Given the description of an element on the screen output the (x, y) to click on. 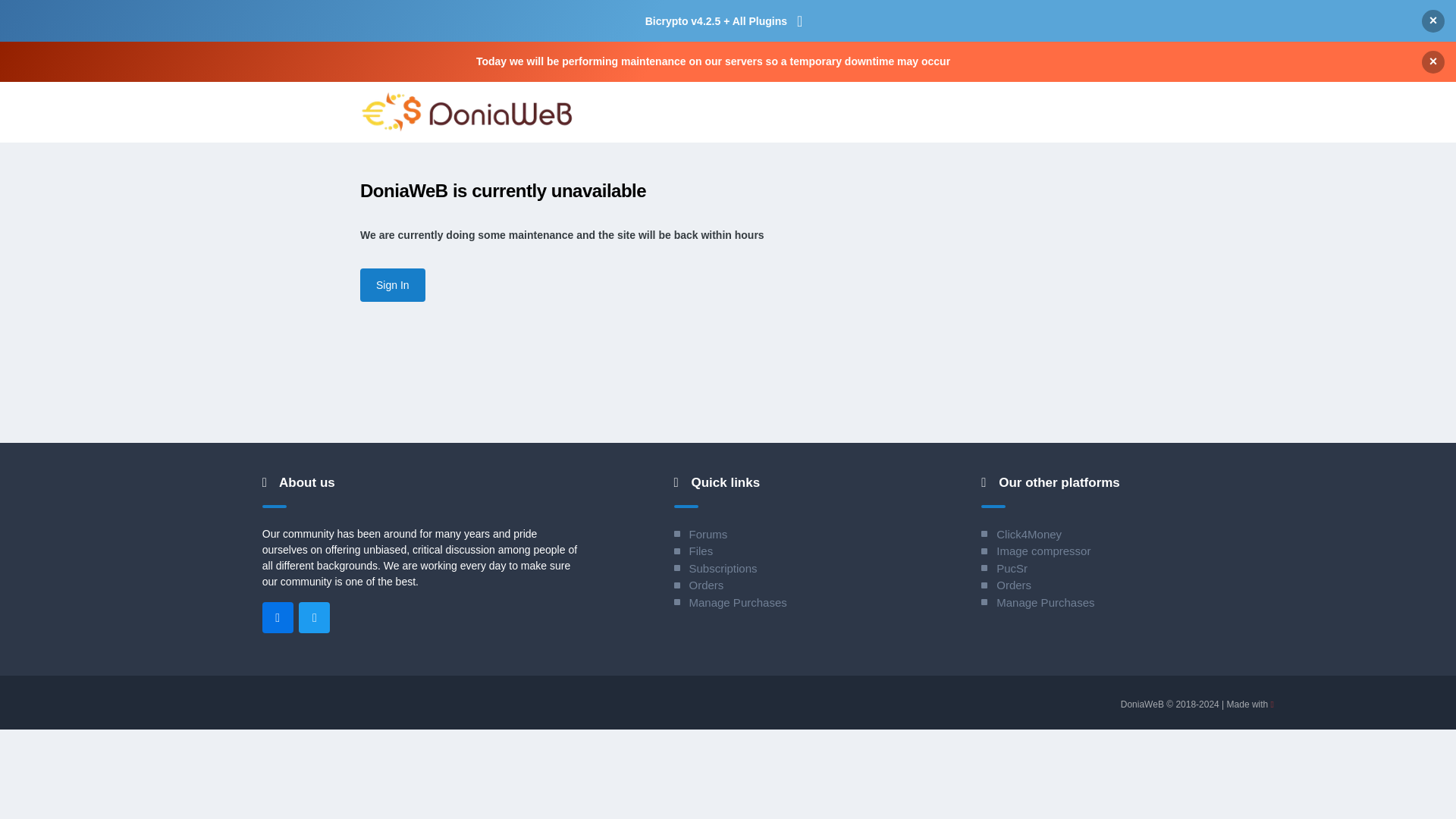
Sign In (392, 285)
PucSr (1004, 567)
Manage Purchases (729, 602)
Orders (1005, 584)
Subscriptions (714, 567)
Orders (697, 584)
Image compressor (1035, 550)
Click4Money (1021, 533)
Forums (699, 533)
Files (692, 550)
Manage Purchases (1037, 602)
